Given the description of an element on the screen output the (x, y) to click on. 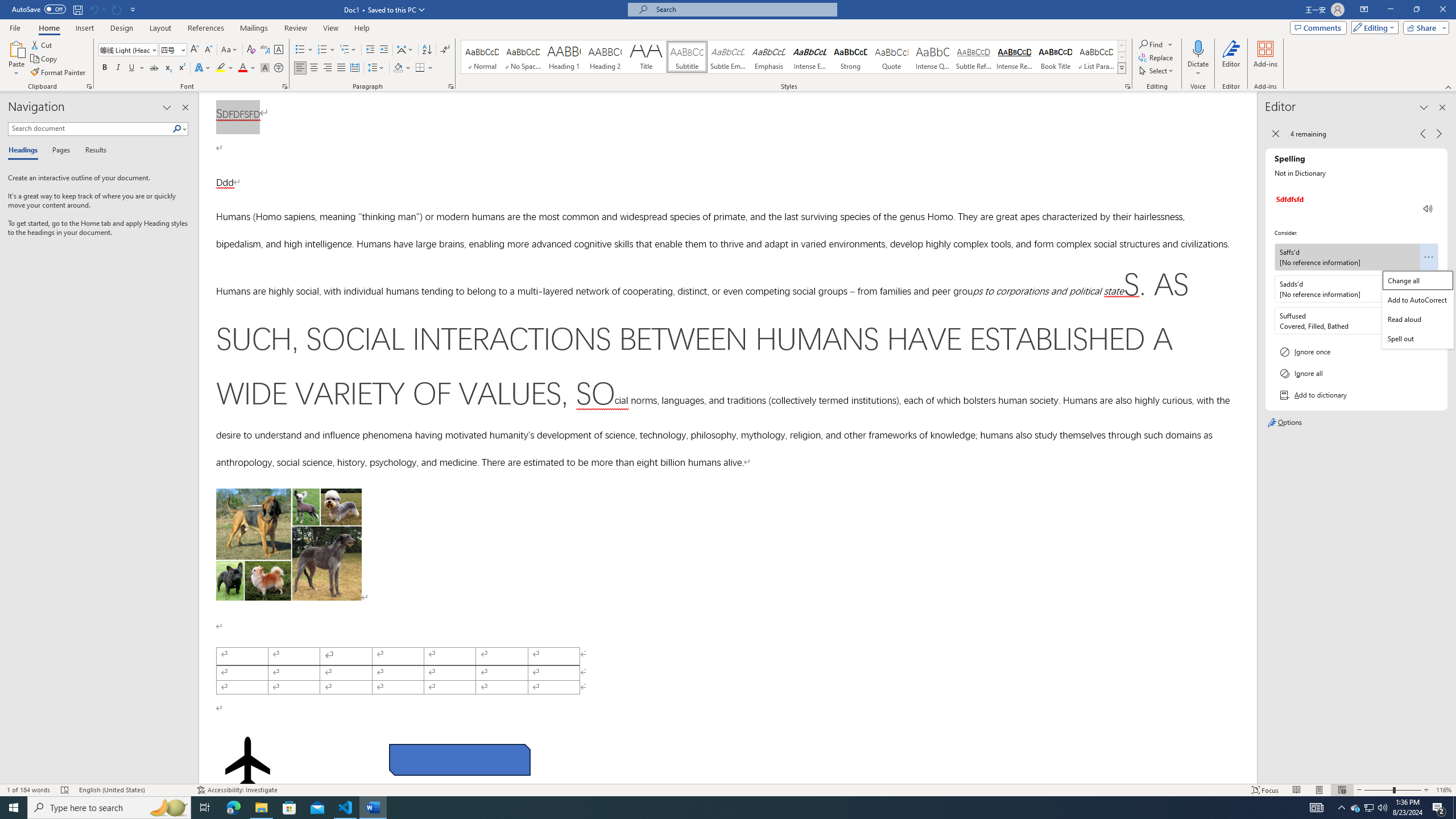
Read aloud (1418, 318)
Previous Issue, 4 remaining (1422, 133)
